Given the description of an element on the screen output the (x, y) to click on. 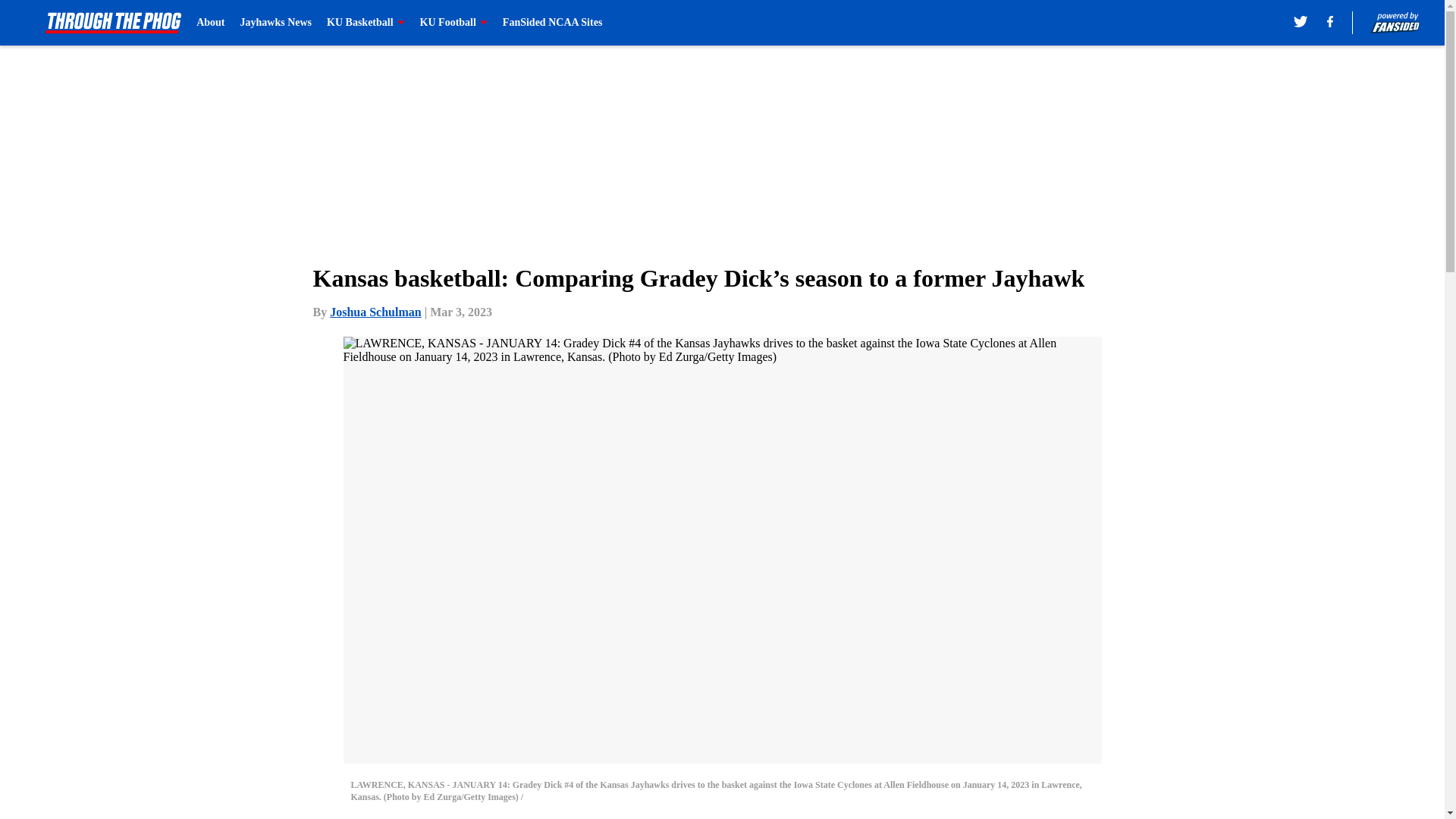
FanSided NCAA Sites (552, 22)
About (210, 22)
Jayhawks News (276, 22)
Joshua Schulman (376, 311)
